Given the description of an element on the screen output the (x, y) to click on. 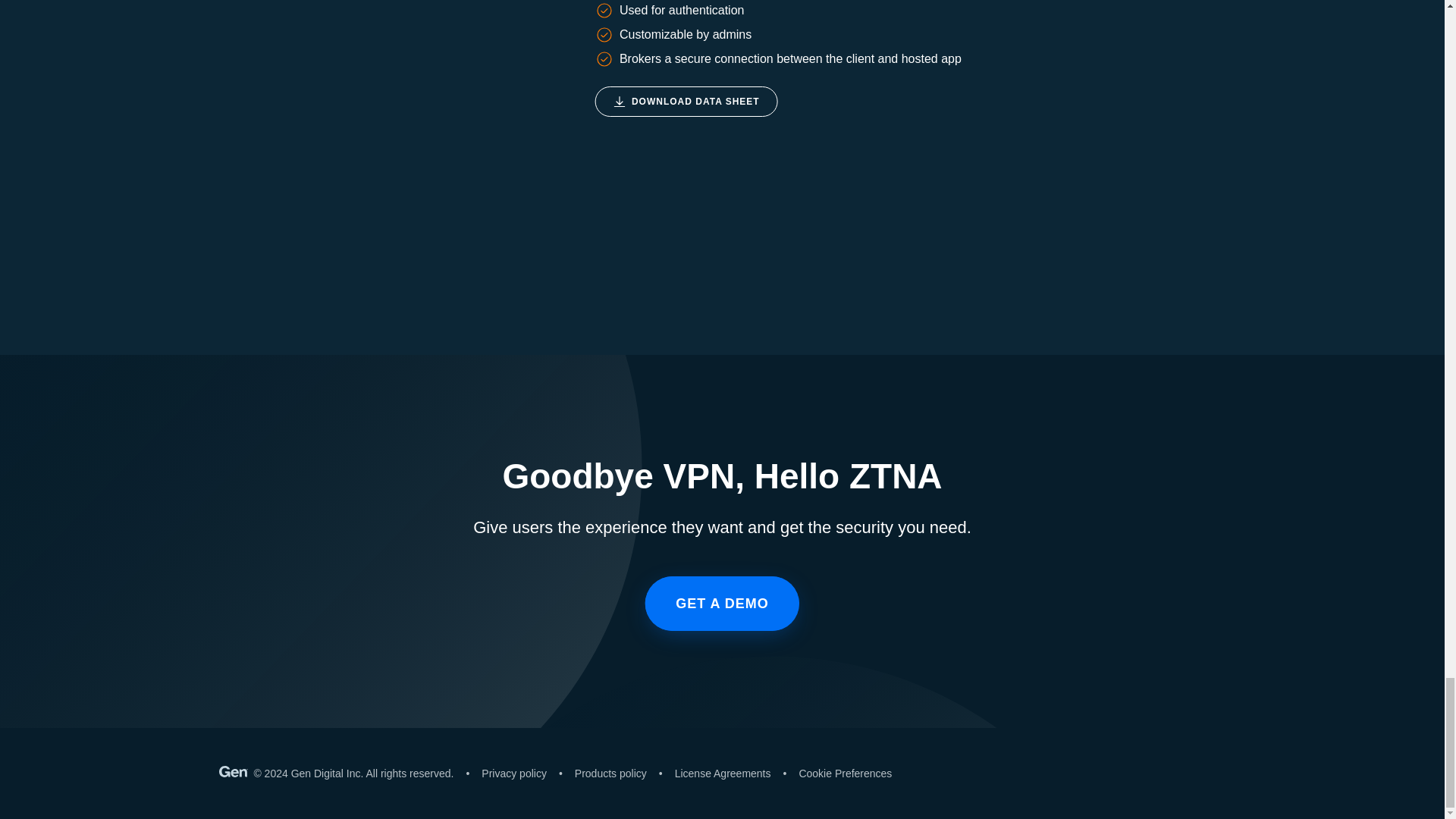
License Agreements (715, 773)
Cookie Preferences (837, 773)
Privacy policy (506, 773)
Products policy (602, 773)
GET A DEMO (722, 603)
DOWNLOAD DATA SHEET (686, 101)
